Given the description of an element on the screen output the (x, y) to click on. 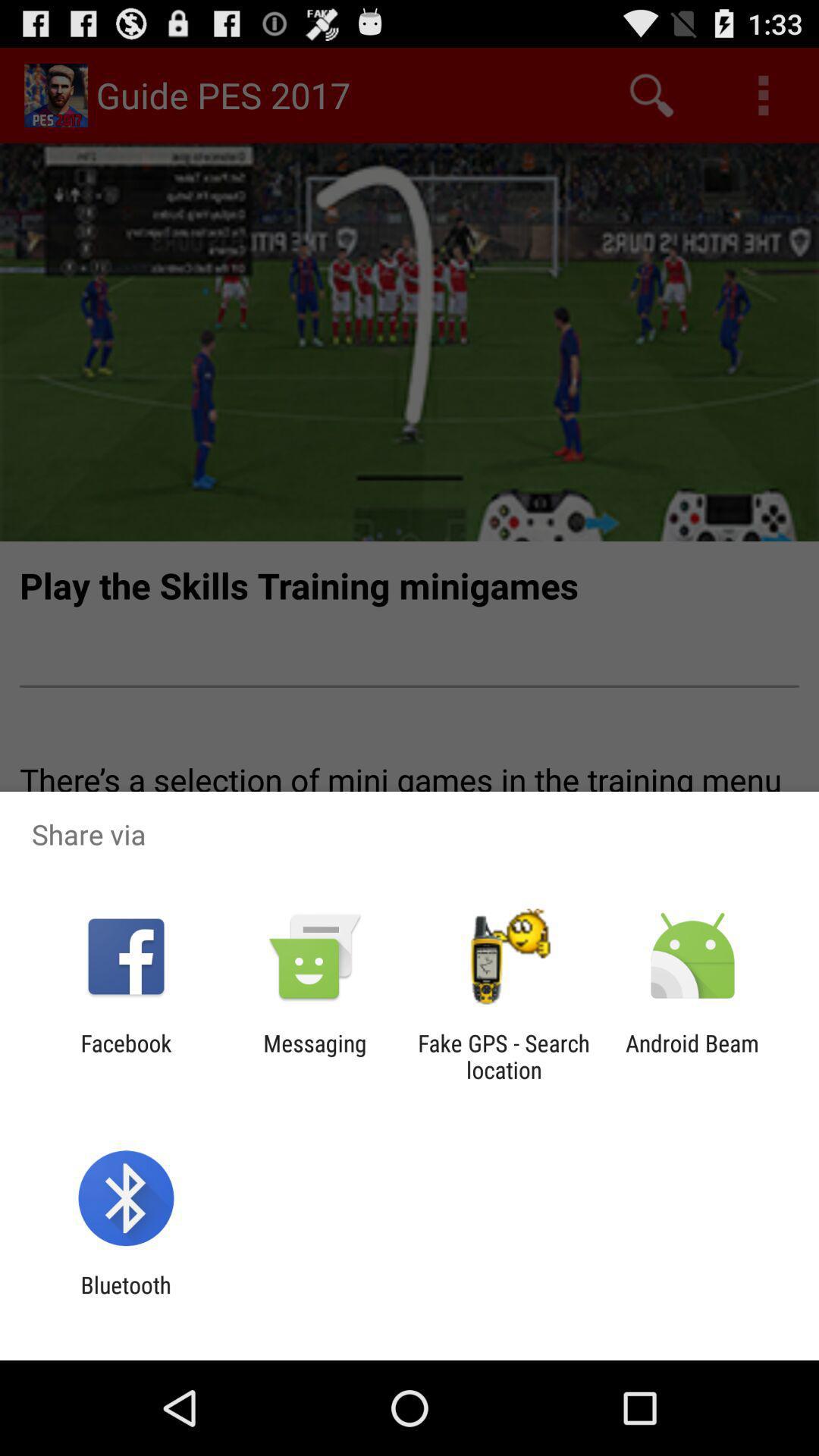
jump until messaging (314, 1056)
